Given the description of an element on the screen output the (x, y) to click on. 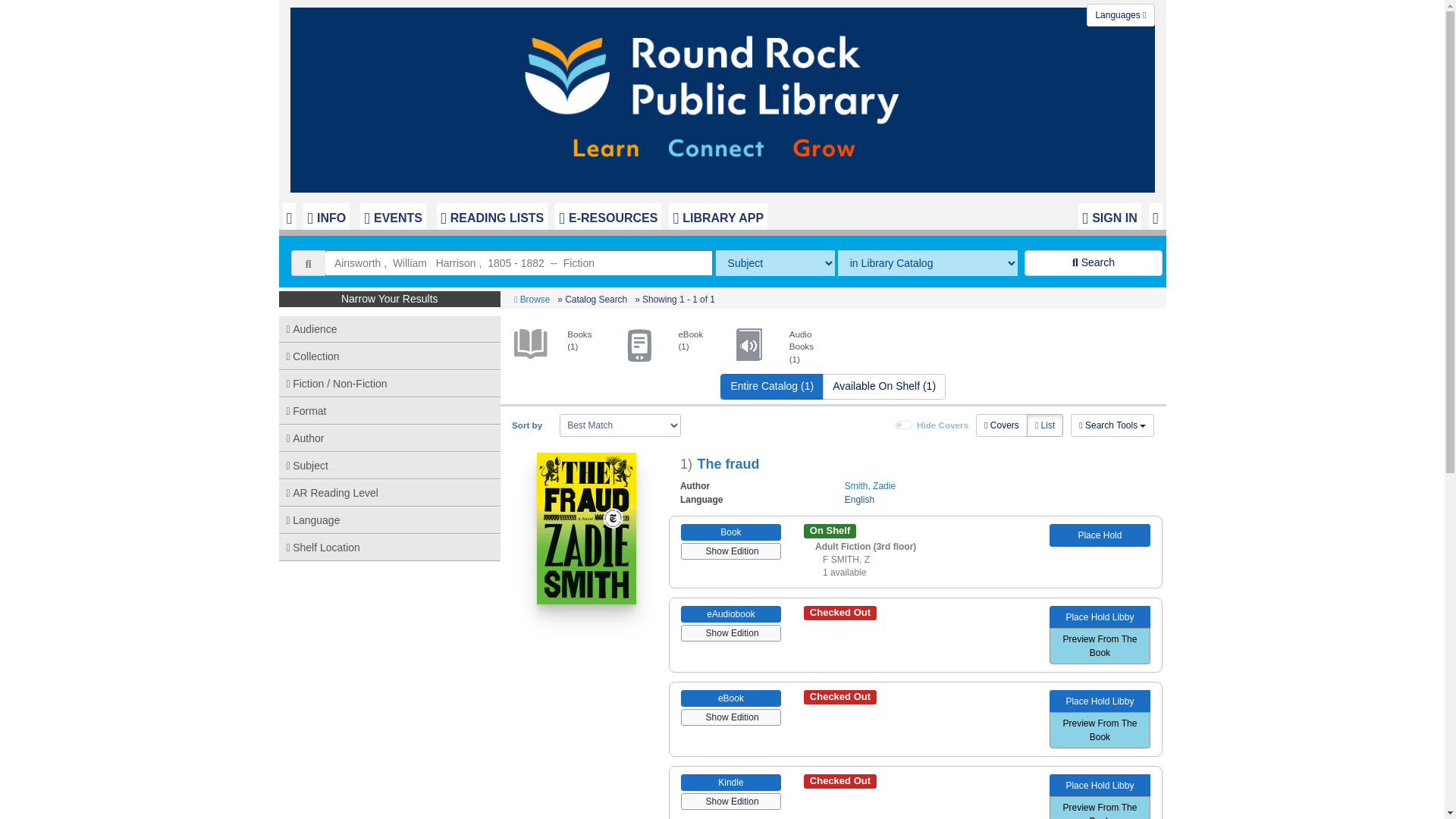
SIGN IN (1109, 216)
on (903, 424)
READING LISTS (491, 216)
Ainsworth ,  William   Harrison ,  1805 - 1882  --  Fiction (518, 263)
Login (1109, 216)
EVENTS (392, 216)
Languages  (1120, 15)
Browse (531, 299)
 Search (1093, 263)
